Given the description of an element on the screen output the (x, y) to click on. 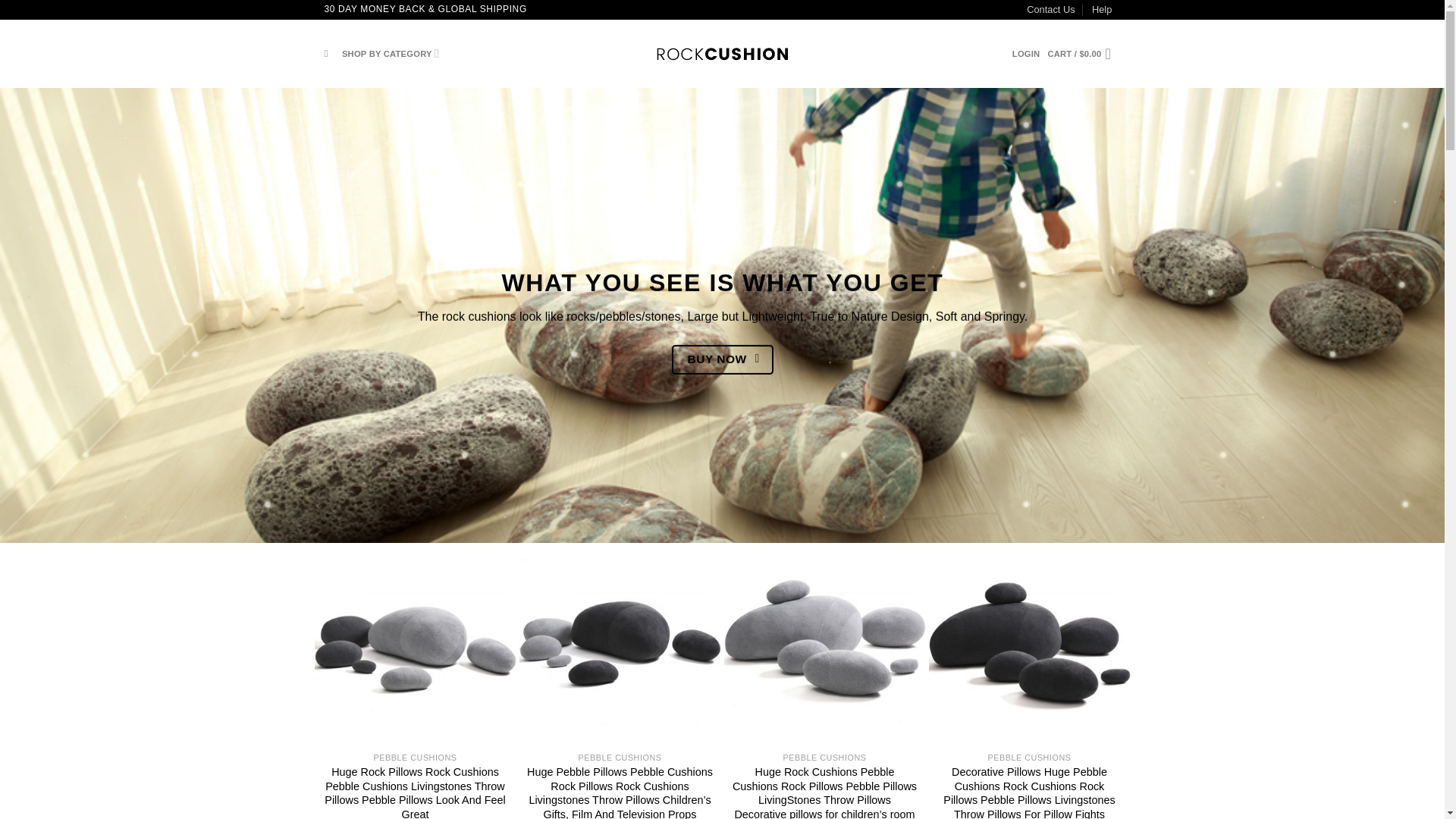
Help (1102, 9)
Login (1026, 53)
Contact Us (1050, 9)
SHOP BY CATEGORY (390, 52)
Cart (1082, 53)
BUY NOW (722, 359)
LOGIN (1026, 53)
